Given the description of an element on the screen output the (x, y) to click on. 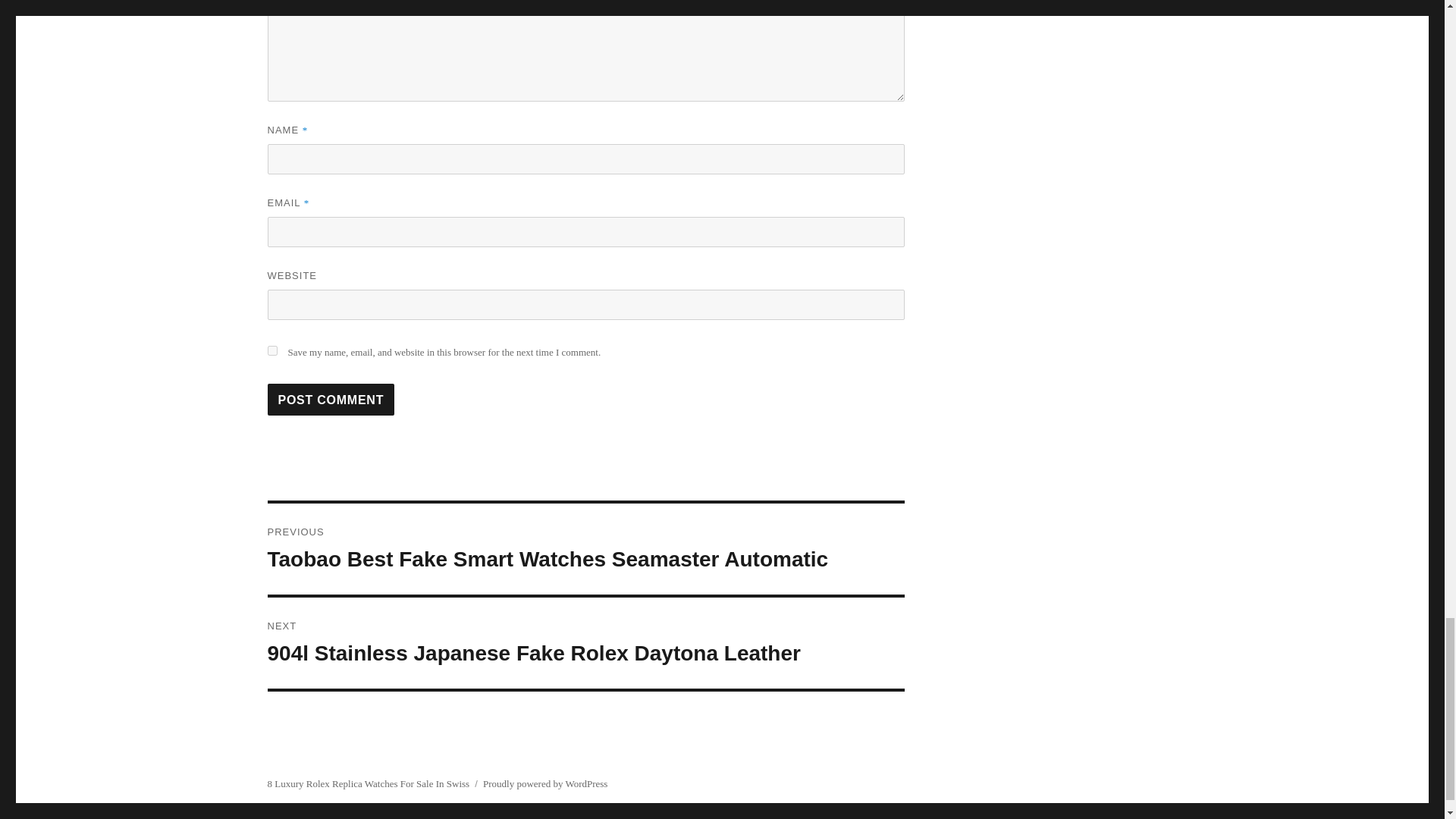
Post Comment (330, 399)
Post Comment (330, 399)
yes (271, 350)
